Given the description of an element on the screen output the (x, y) to click on. 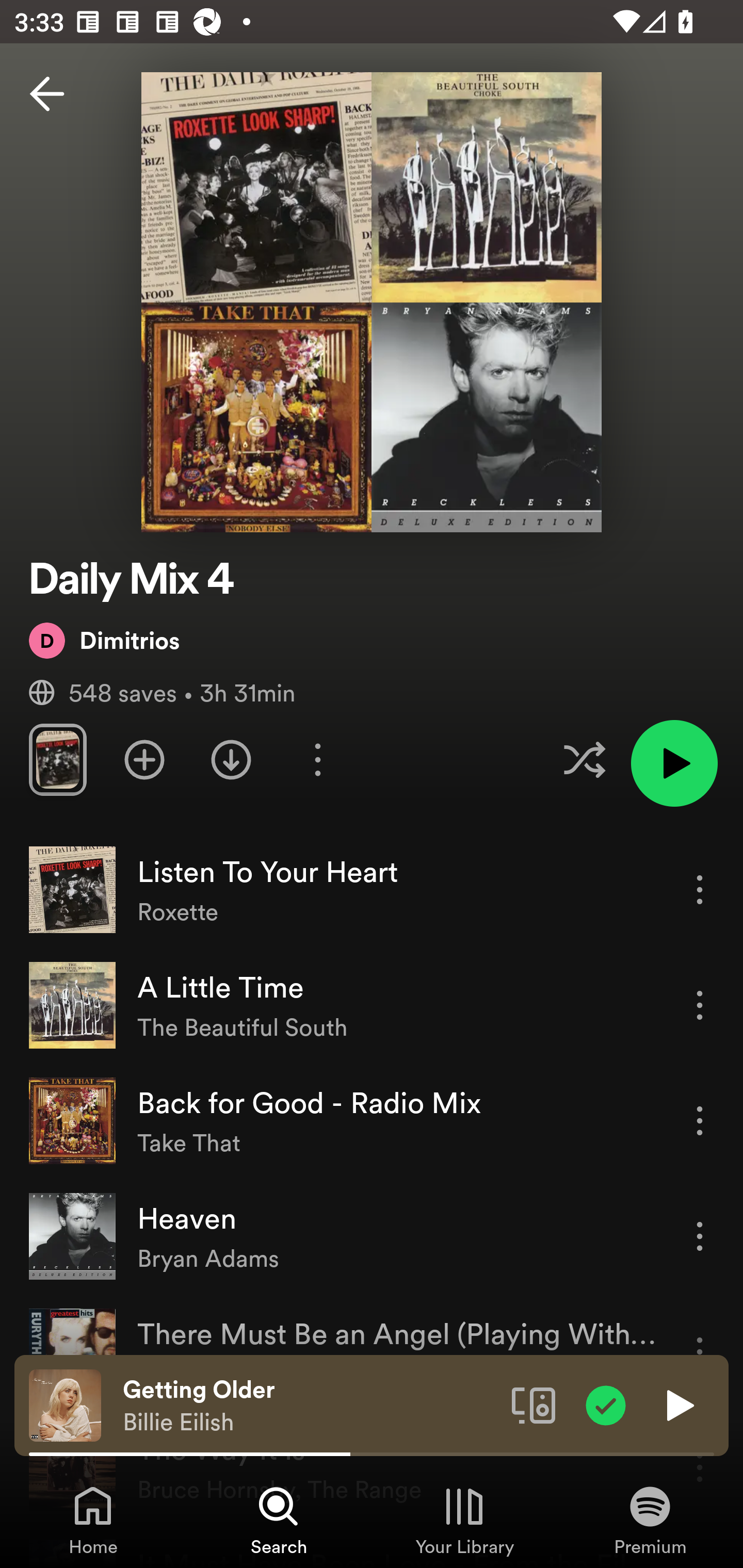
Back (46, 93)
Dimitrios (103, 640)
Swipe through previews of tracks in this playlist. (57, 759)
Add playlist to Your Library (144, 759)
Download (230, 759)
More options for playlist Daily Mix 4 (317, 759)
Enable shuffle for this playlist (583, 759)
Play playlist (674, 763)
More options for song Listen To Your Heart (699, 889)
More options for song A Little Time (699, 1004)
More options for song Back for Good - Radio Mix (699, 1120)
Heaven Bryan Adams More options for song Heaven (371, 1236)
More options for song Heaven (699, 1236)
Getting Older Billie Eilish (309, 1405)
